Given the description of an element on the screen output the (x, y) to click on. 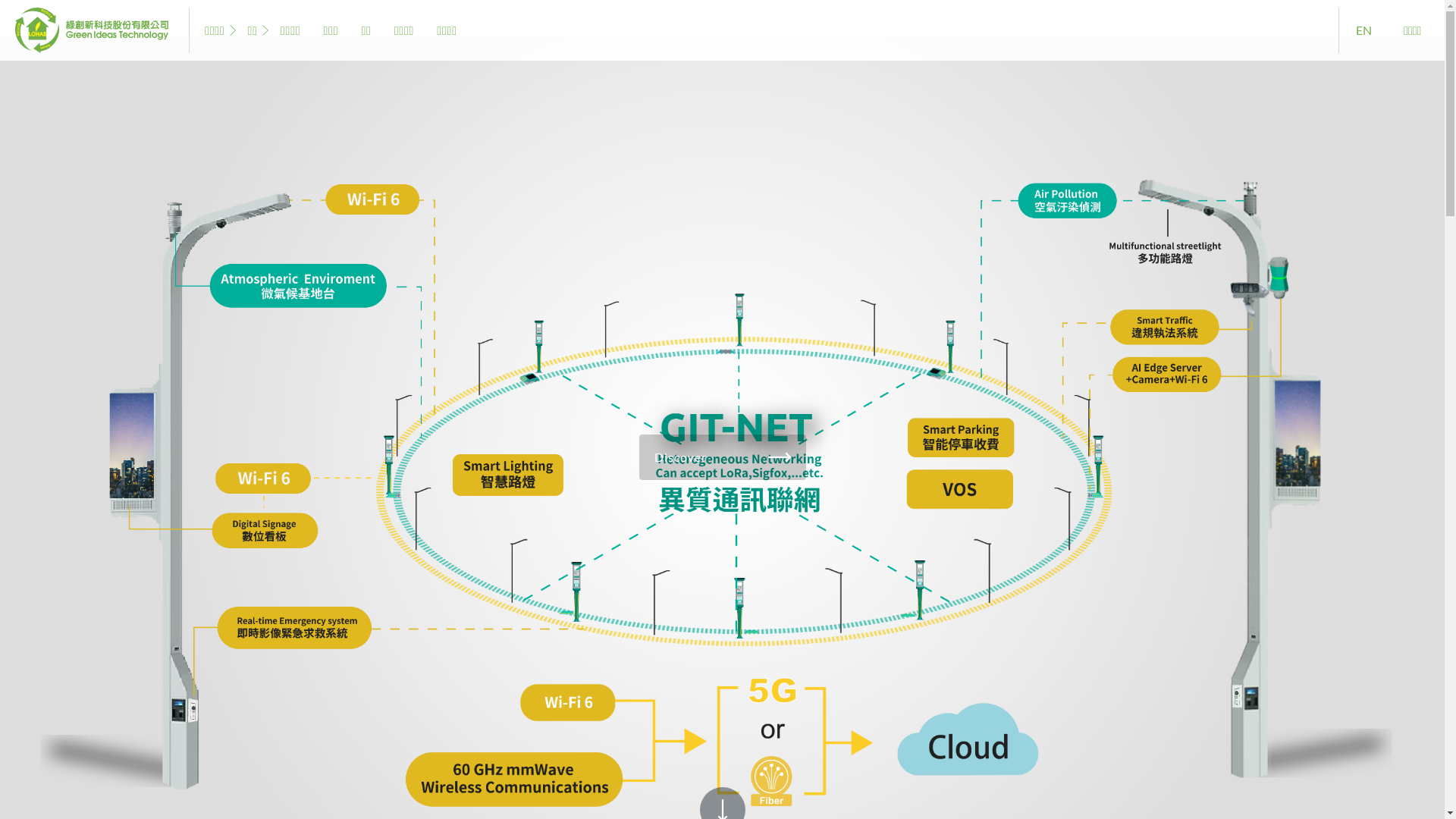
Discover Element type: text (721, 457)
EN Element type: text (1363, 30)
